Given the description of an element on the screen output the (x, y) to click on. 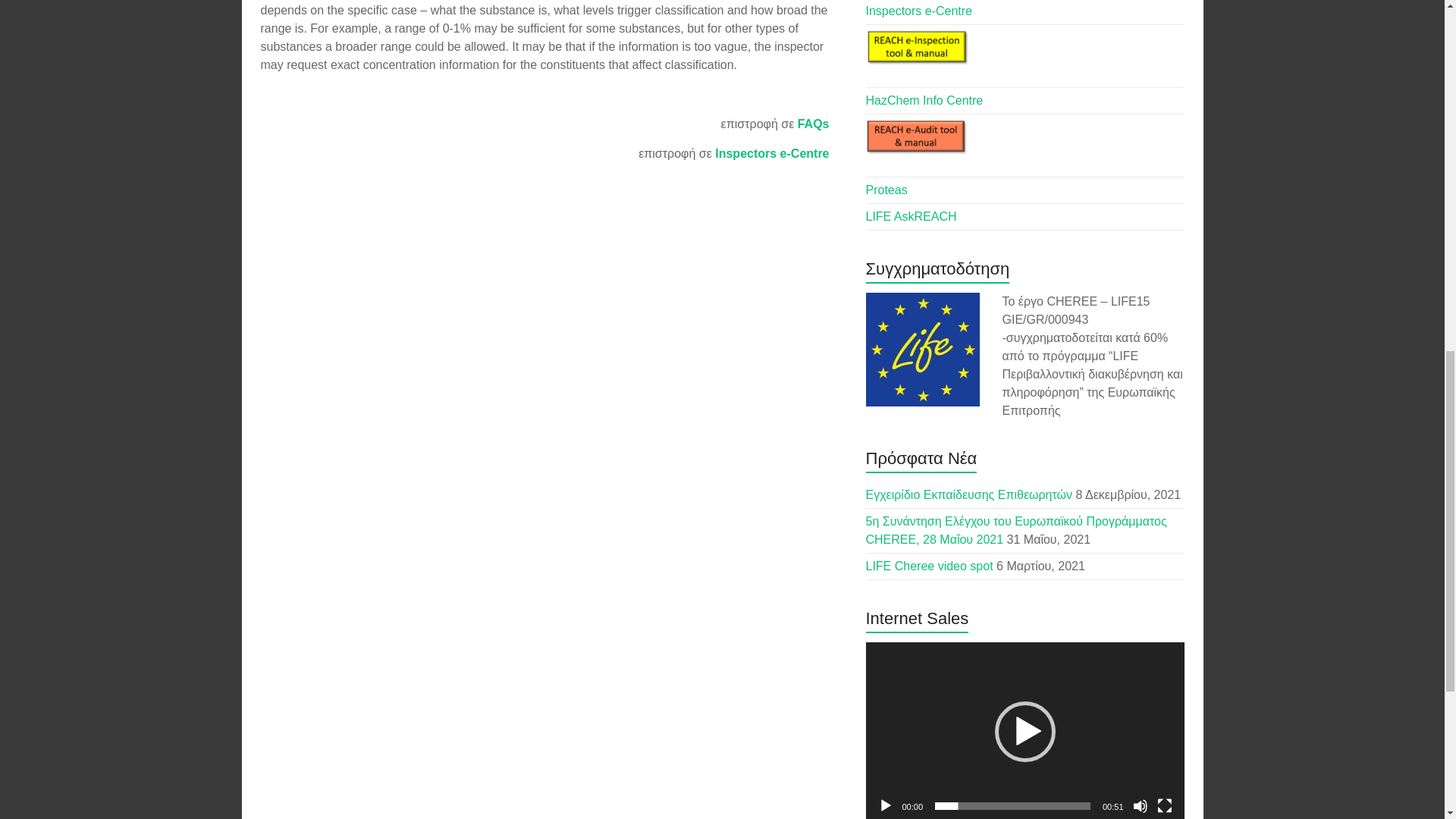
FAQs (813, 123)
Inspectors e-Centre (771, 153)
Inspectors e-Centre (919, 10)
